Given the description of an element on the screen output the (x, y) to click on. 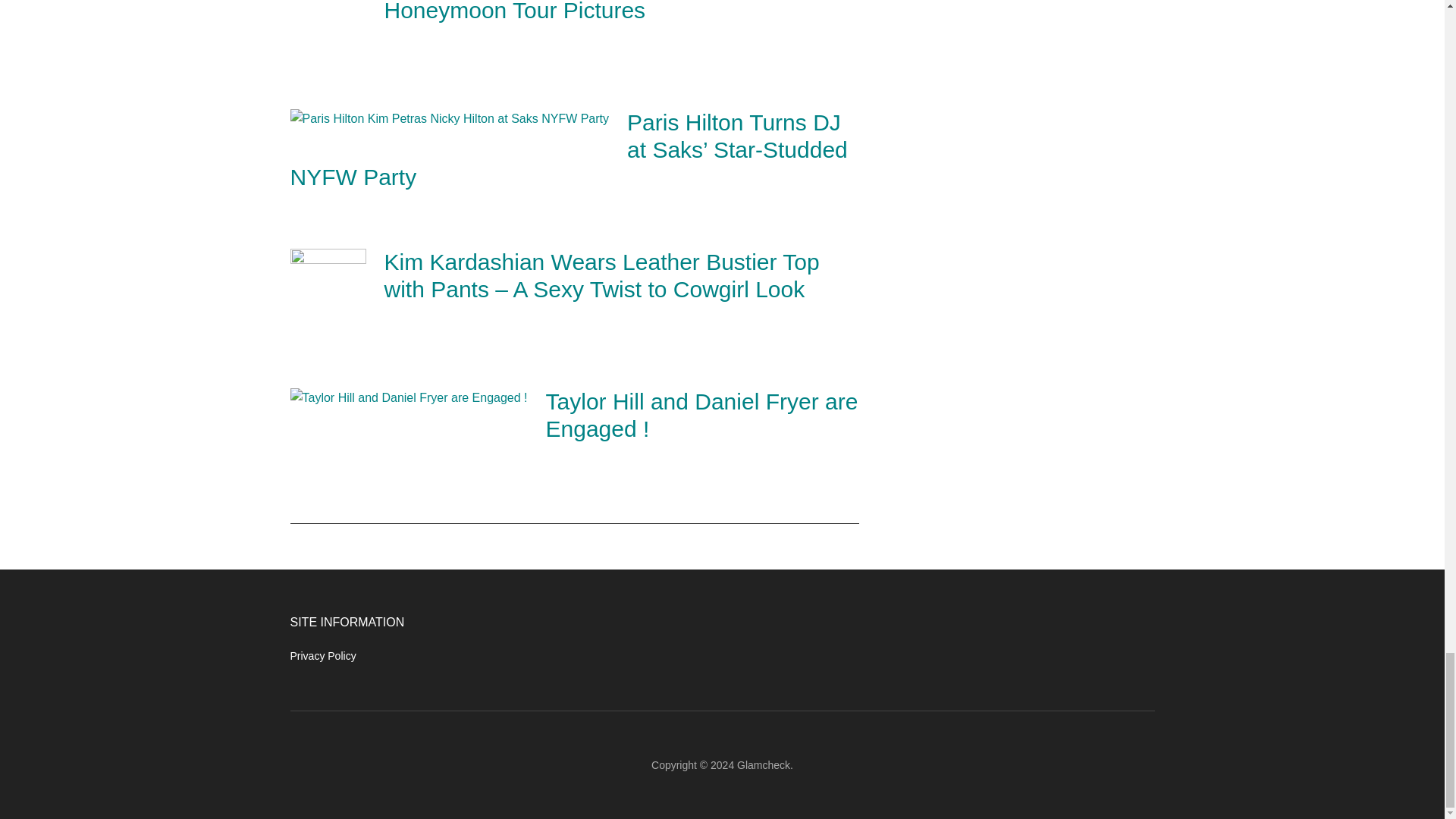
Taylor Hill and Daniel Fryer are Engaged ! (702, 415)
